Given the description of an element on the screen output the (x, y) to click on. 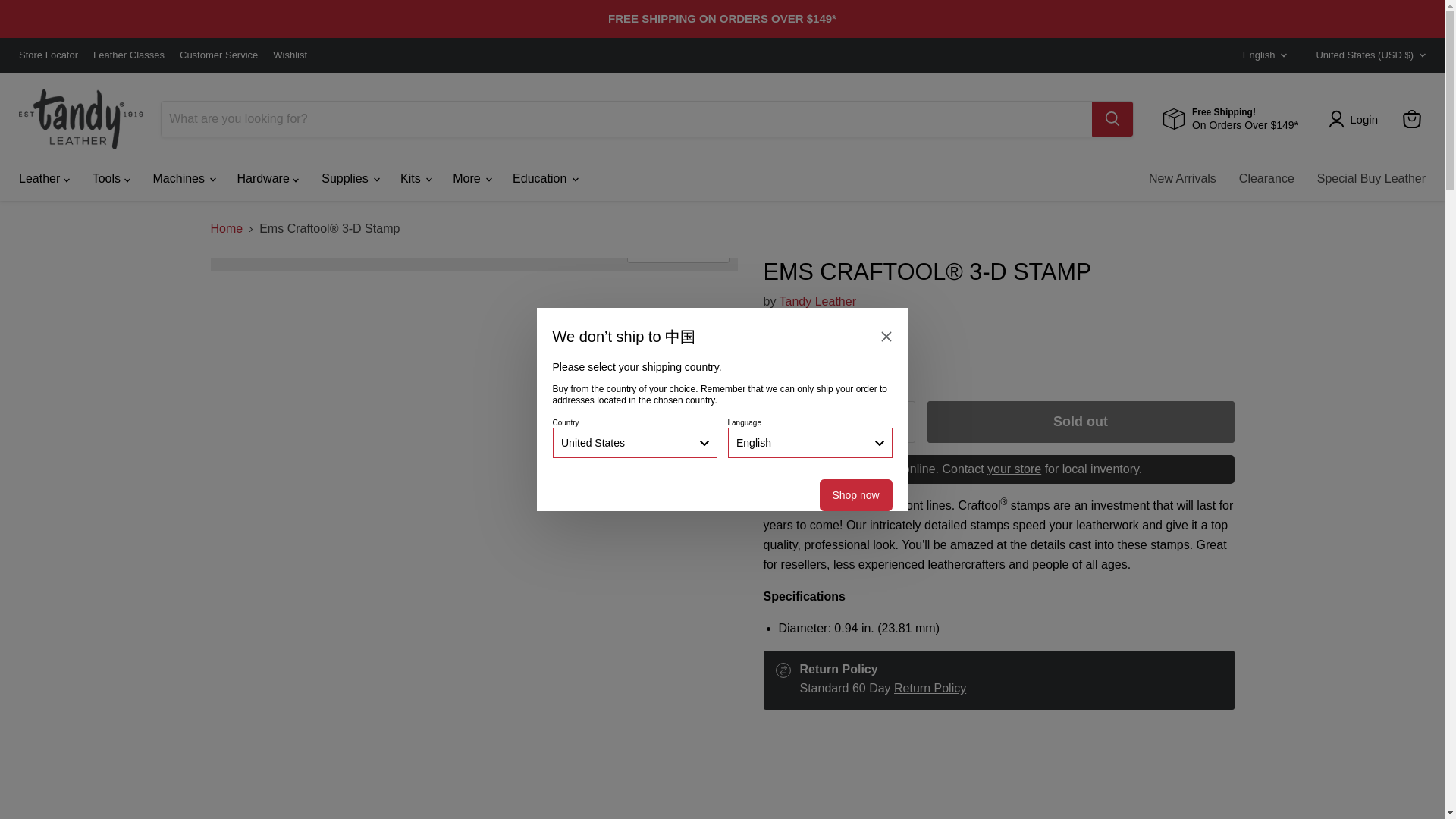
United States (633, 442)
1 (839, 422)
Shop now (855, 495)
Store Locator (48, 55)
Refund Policy (929, 687)
Tandy Leather (817, 300)
Wishlist (290, 55)
Leather Classes (128, 55)
English (1260, 55)
English (810, 442)
